Given the description of an element on the screen output the (x, y) to click on. 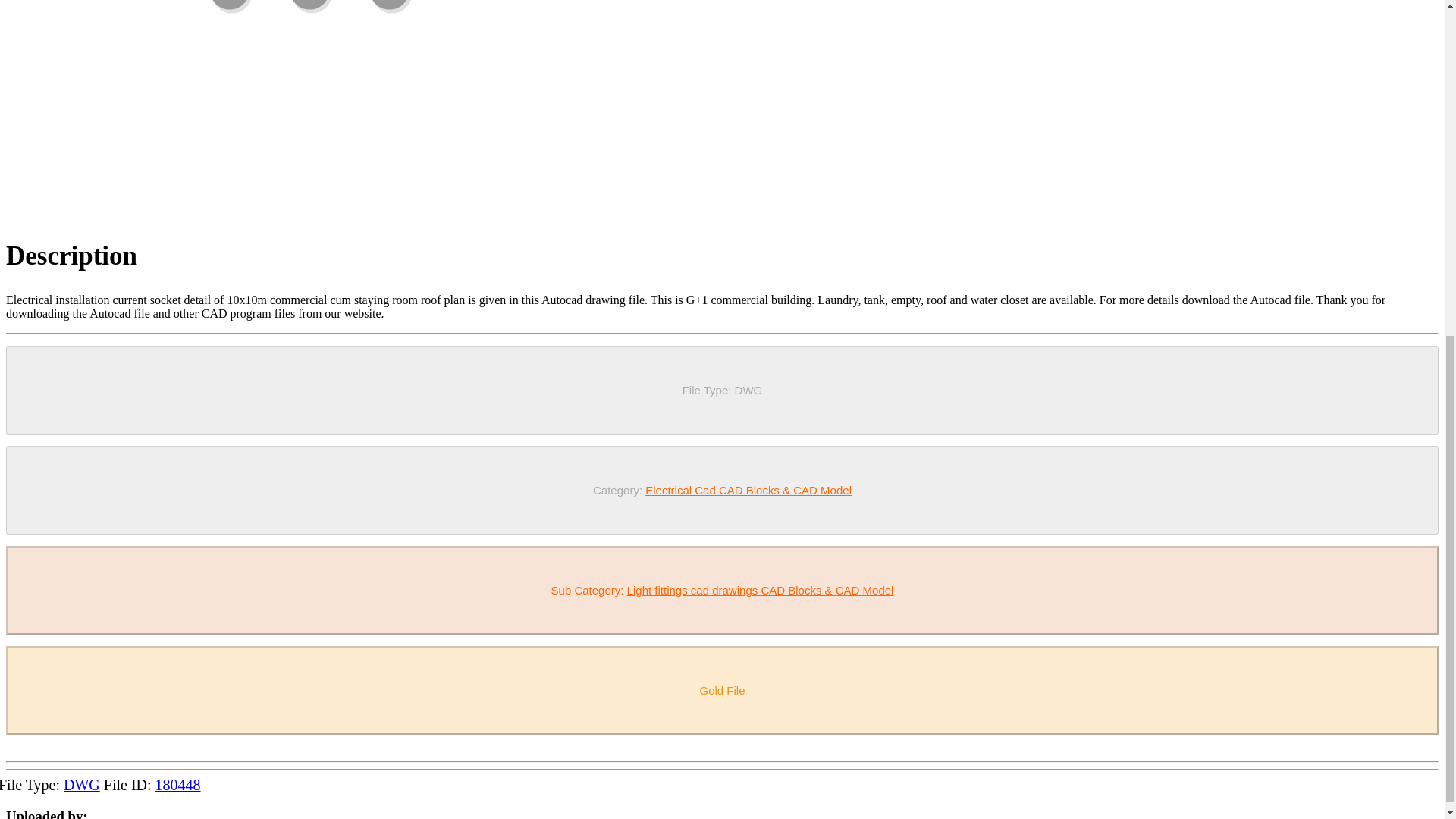
180448 (177, 784)
DWG (82, 784)
